Given the description of an element on the screen output the (x, y) to click on. 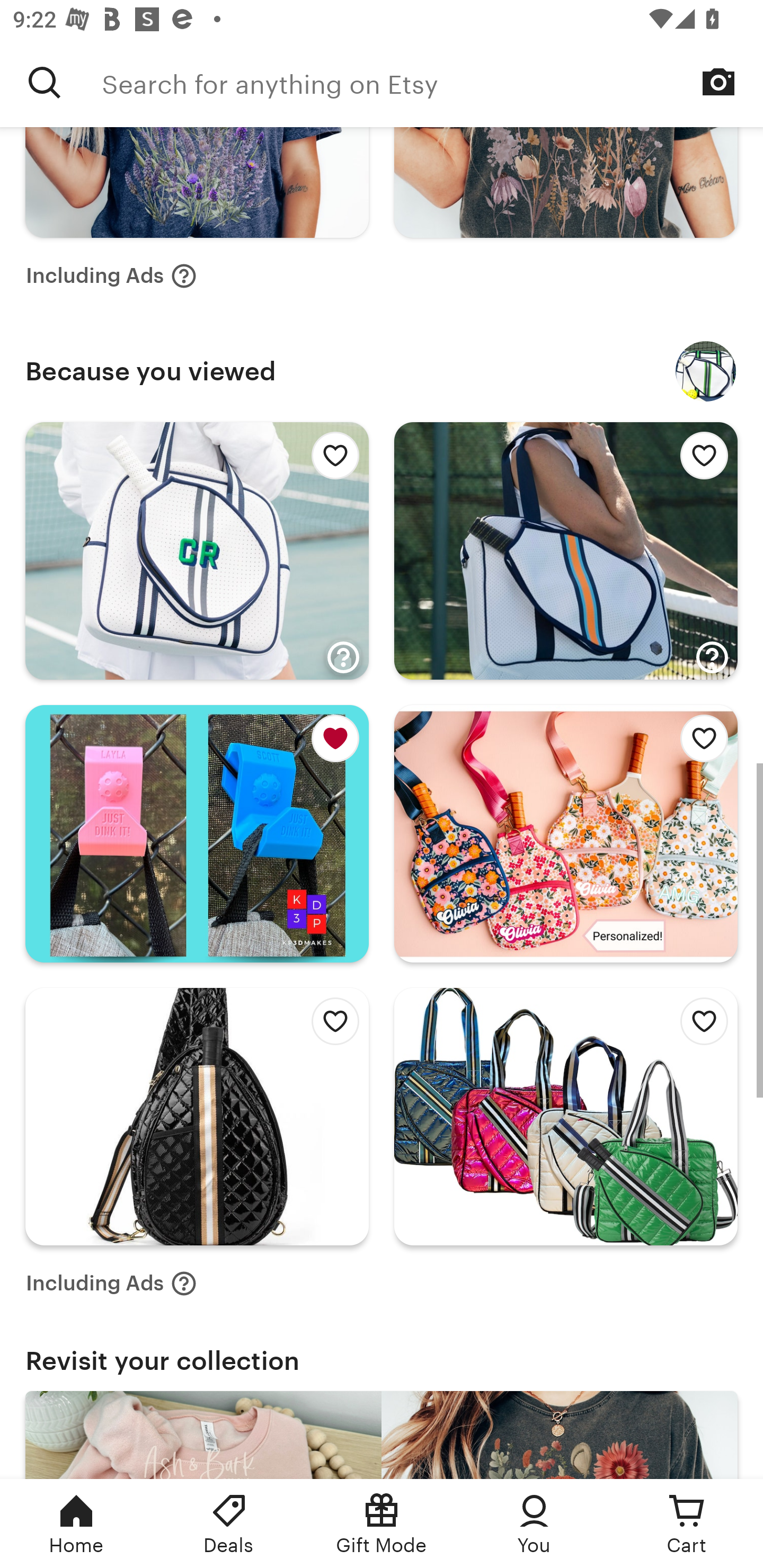
Search for anything on Etsy (44, 82)
Search by image (718, 81)
Search for anything on Etsy (432, 82)
Including Ads (111, 275)
Including Ads (111, 1282)
Deals (228, 1523)
Gift Mode (381, 1523)
You (533, 1523)
Cart (686, 1523)
